Given the description of an element on the screen output the (x, y) to click on. 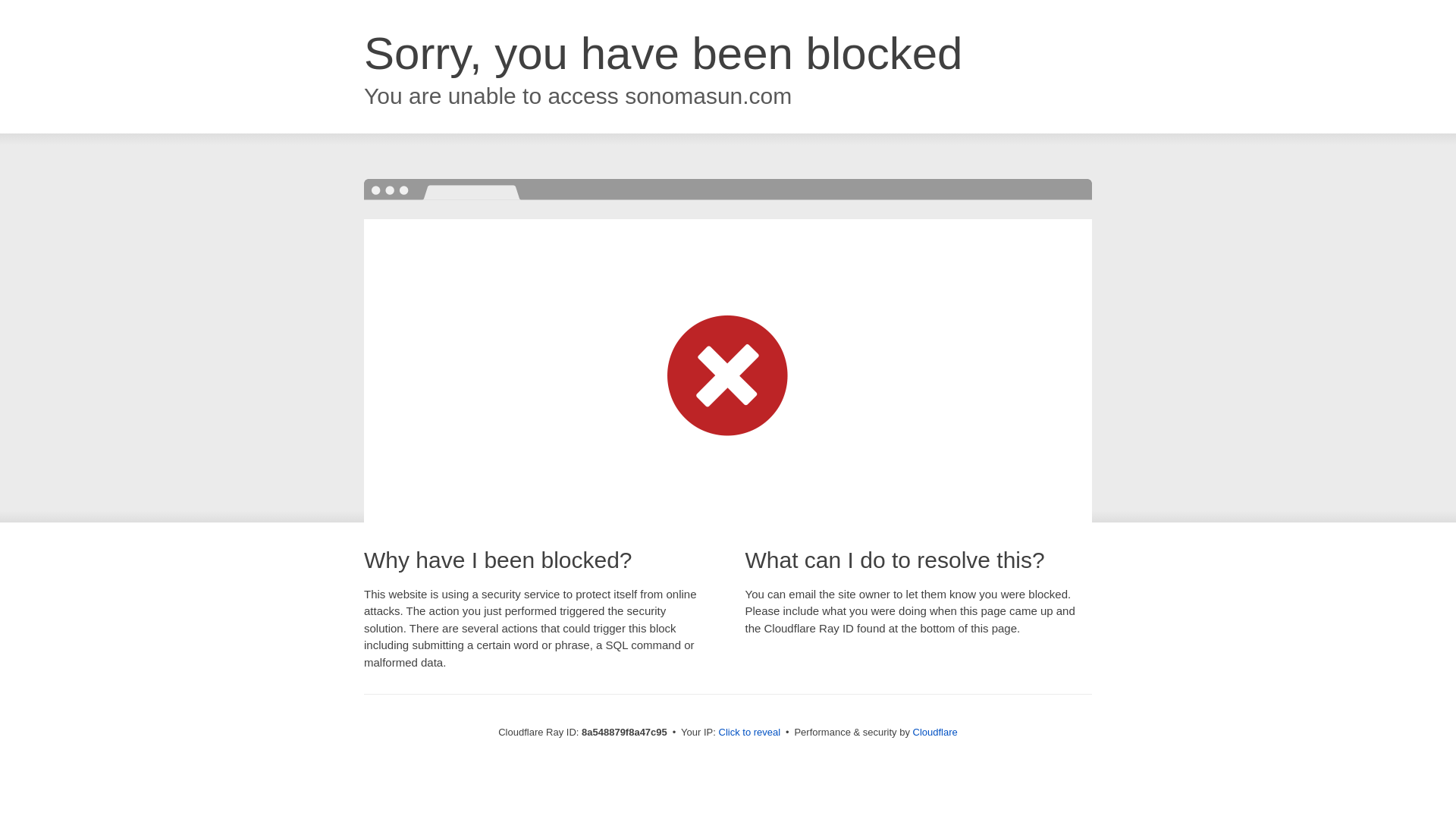
Cloudflare (935, 731)
Click to reveal (749, 732)
